Given the description of an element on the screen output the (x, y) to click on. 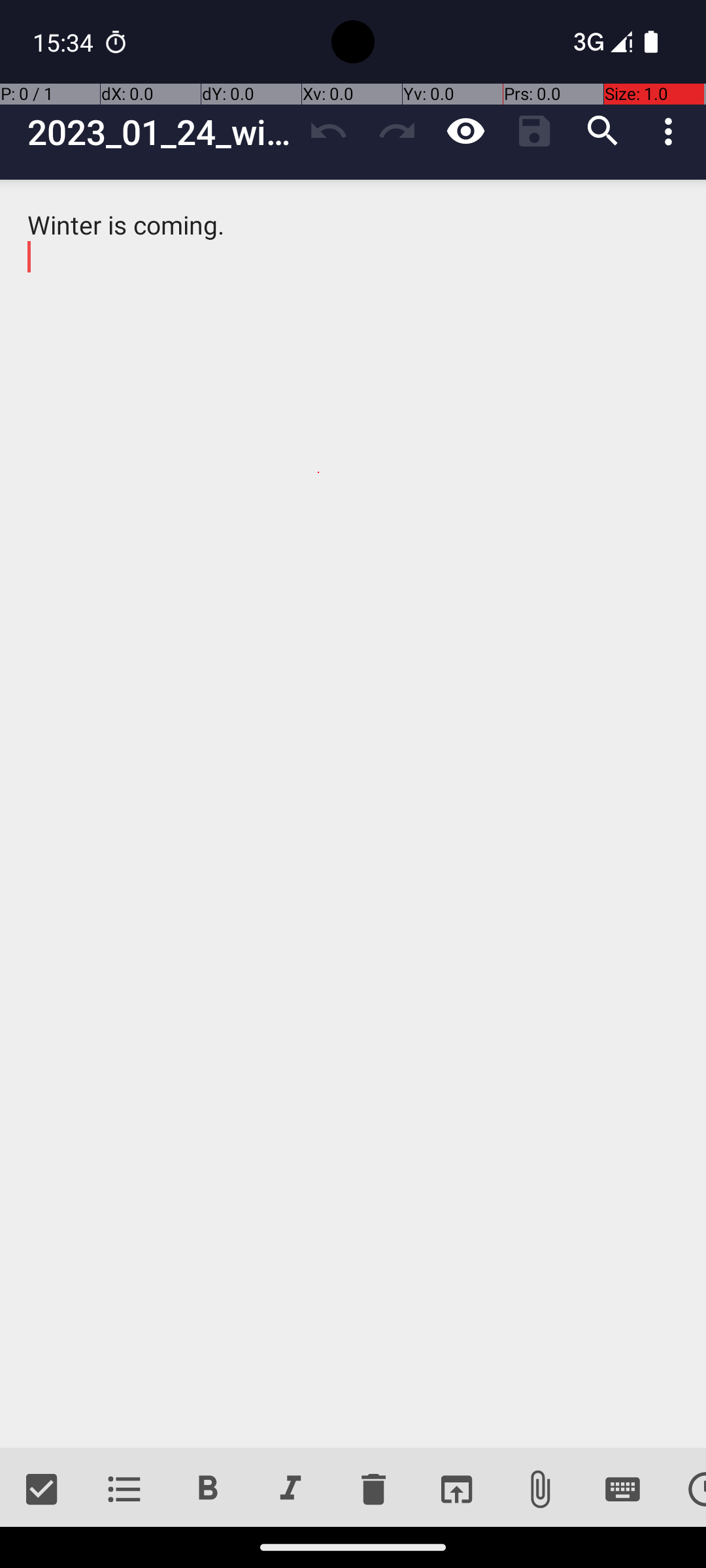
2023_01_24_wise_lamp Element type: android.widget.TextView (160, 131)
Winter is coming.
 Element type: android.widget.EditText (353, 813)
